Given the description of an element on the screen output the (x, y) to click on. 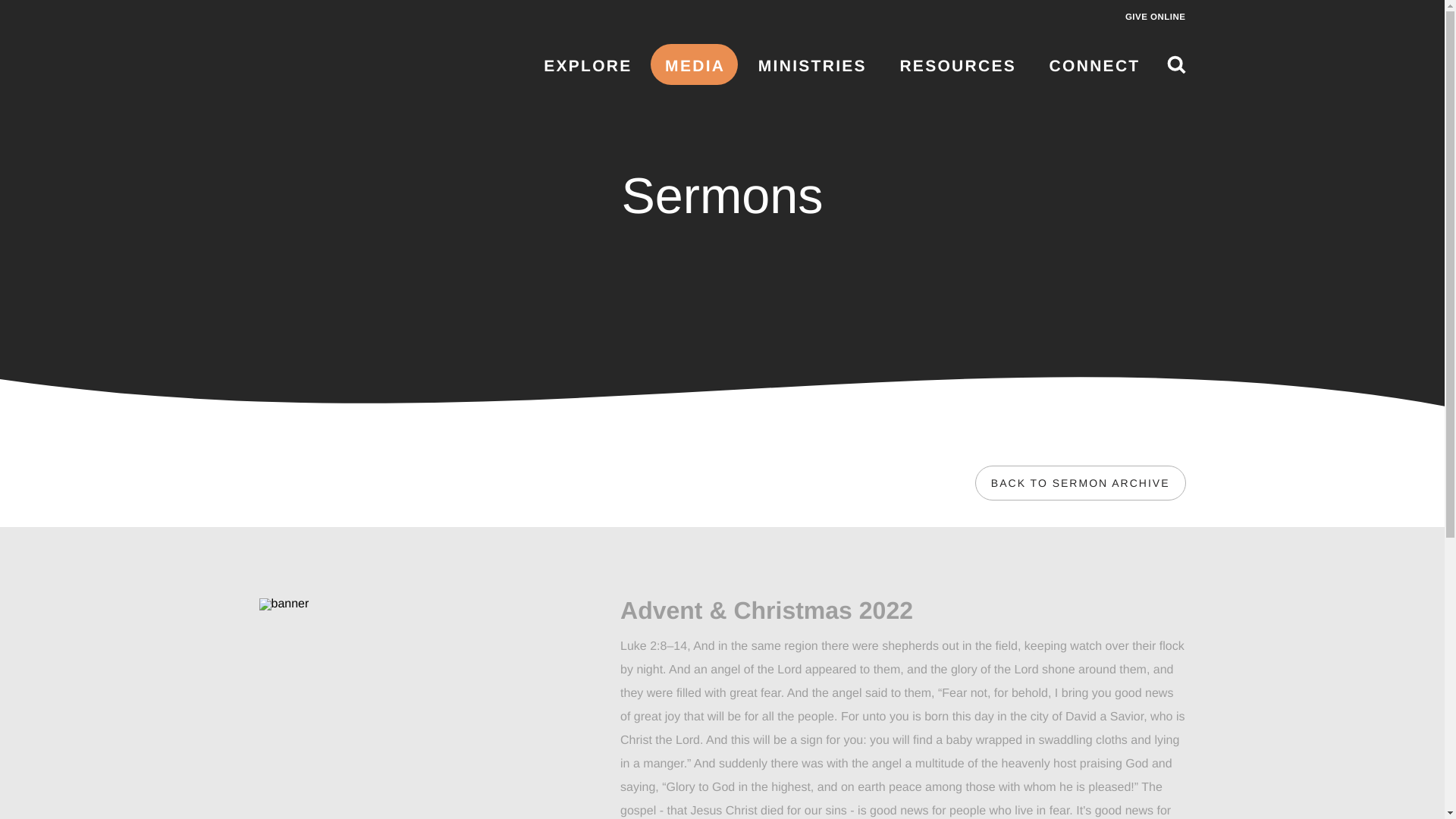
GIVE ONLINE (1155, 17)
Search (1175, 64)
EXPLORE (587, 65)
